Given the description of an element on the screen output the (x, y) to click on. 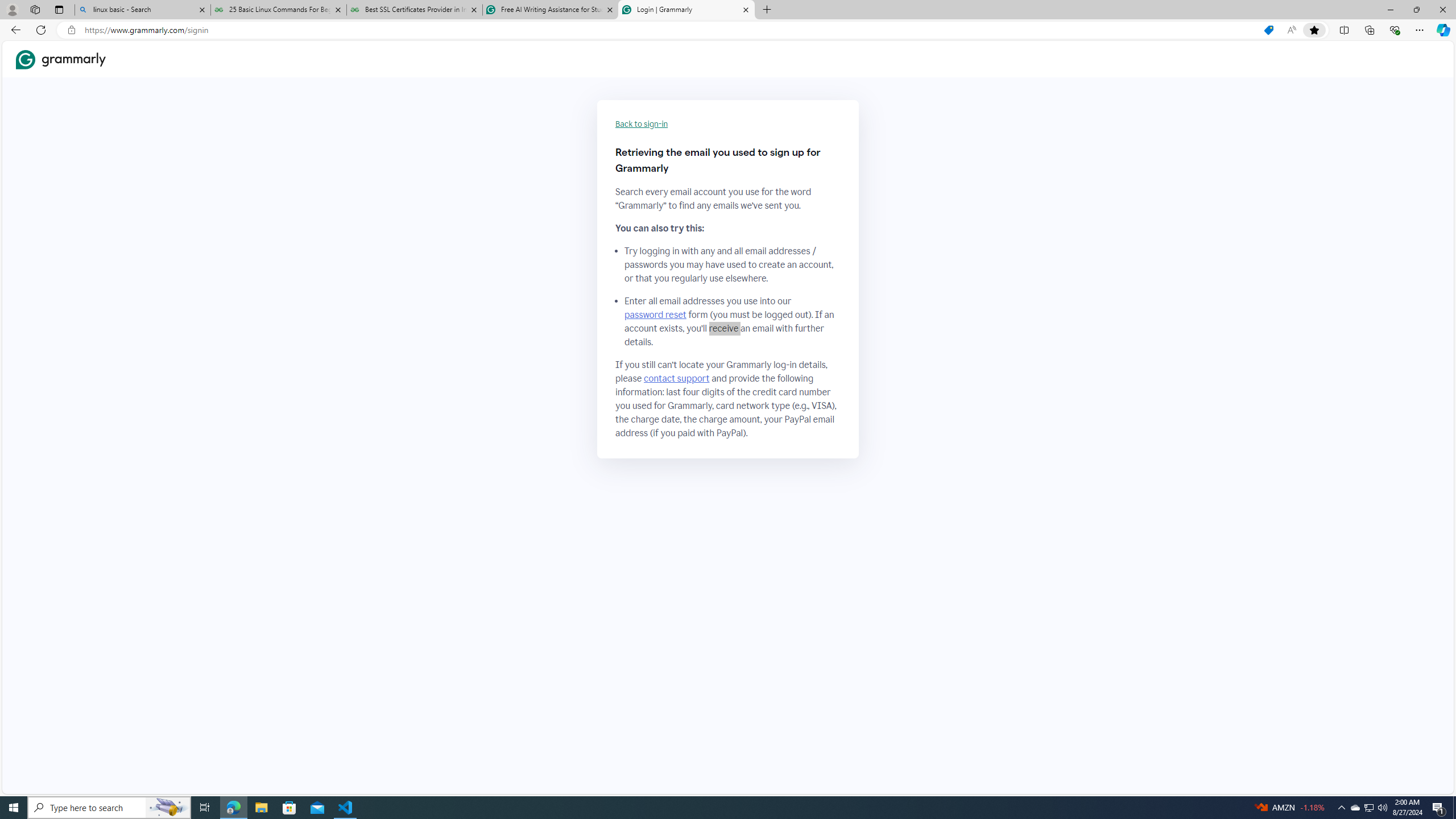
linux basic - Search (142, 9)
Login | Grammarly (685, 9)
